Given the description of an element on the screen output the (x, y) to click on. 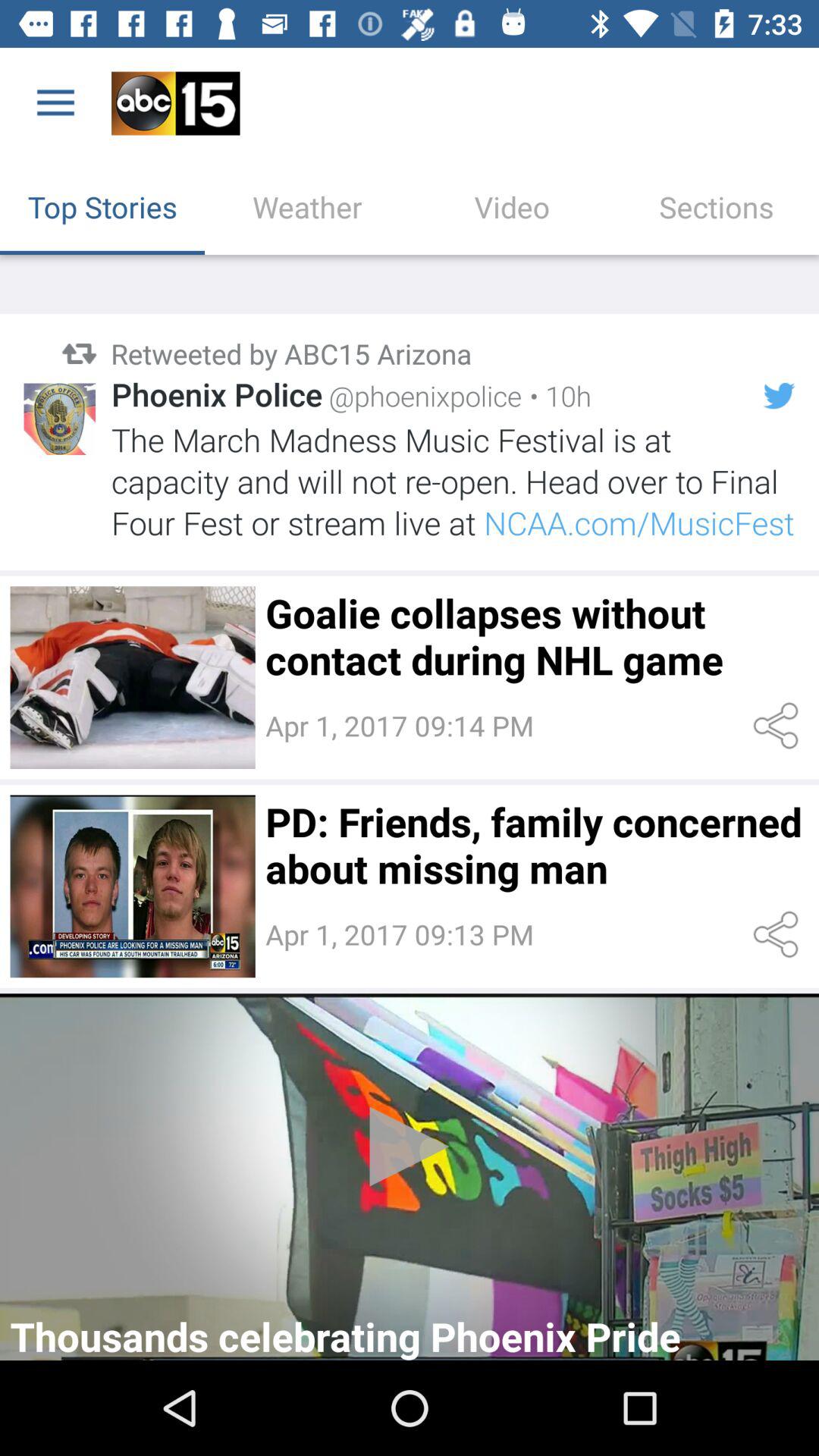
share content (778, 934)
